Given the description of an element on the screen output the (x, y) to click on. 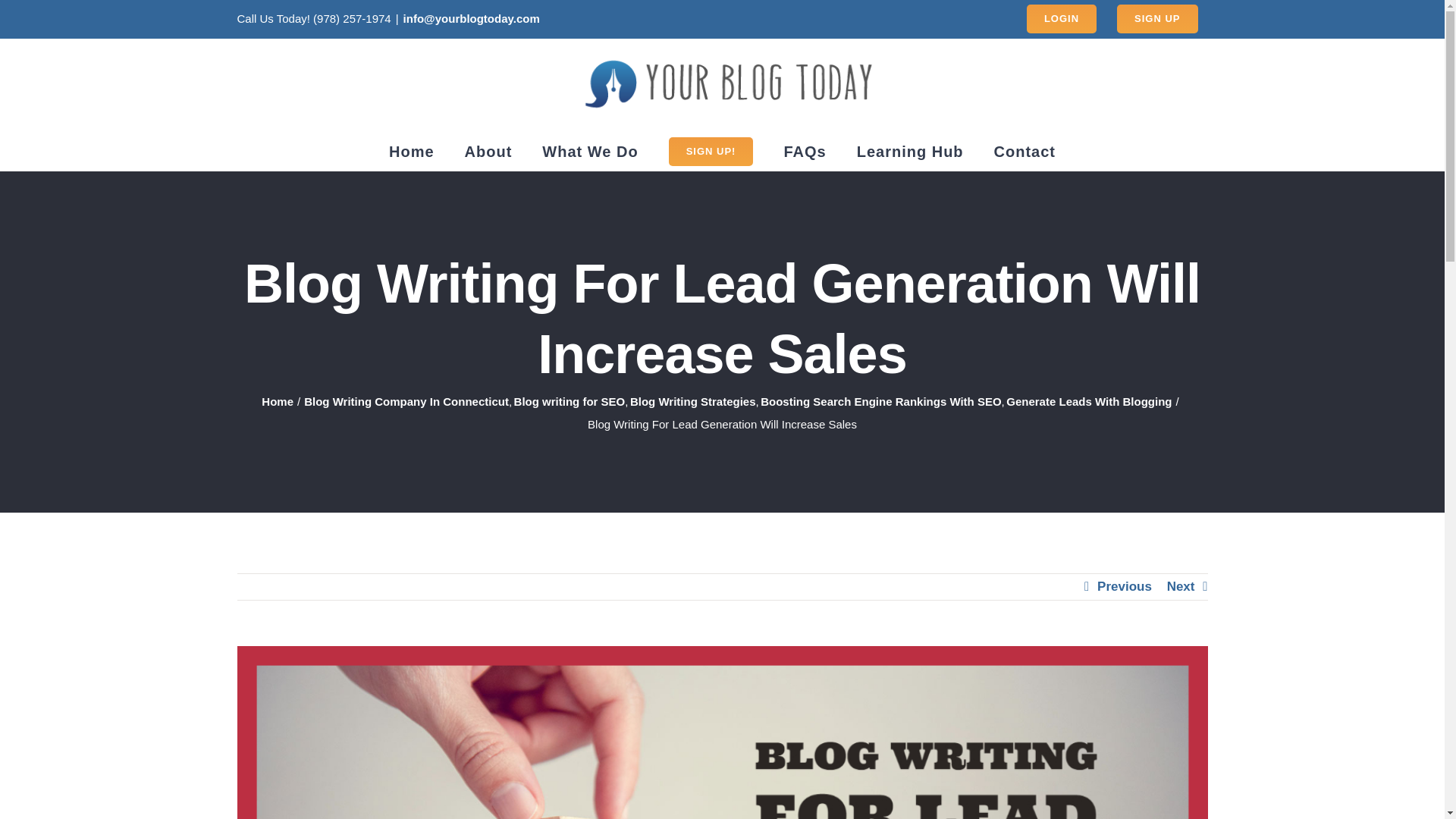
Home (278, 400)
Blog Writing Company In Connecticut (406, 400)
SIGN UP (1156, 18)
FAQs (804, 151)
What We Do (589, 151)
Previous (1124, 586)
About (488, 151)
SIGN UP! (711, 151)
Contact (1024, 151)
Home (410, 151)
LOGIN (1061, 18)
Boosting Search Engine Rankings With SEO (880, 400)
Next (1181, 586)
Generate Leads With Blogging (1089, 400)
